Given the description of an element on the screen output the (x, y) to click on. 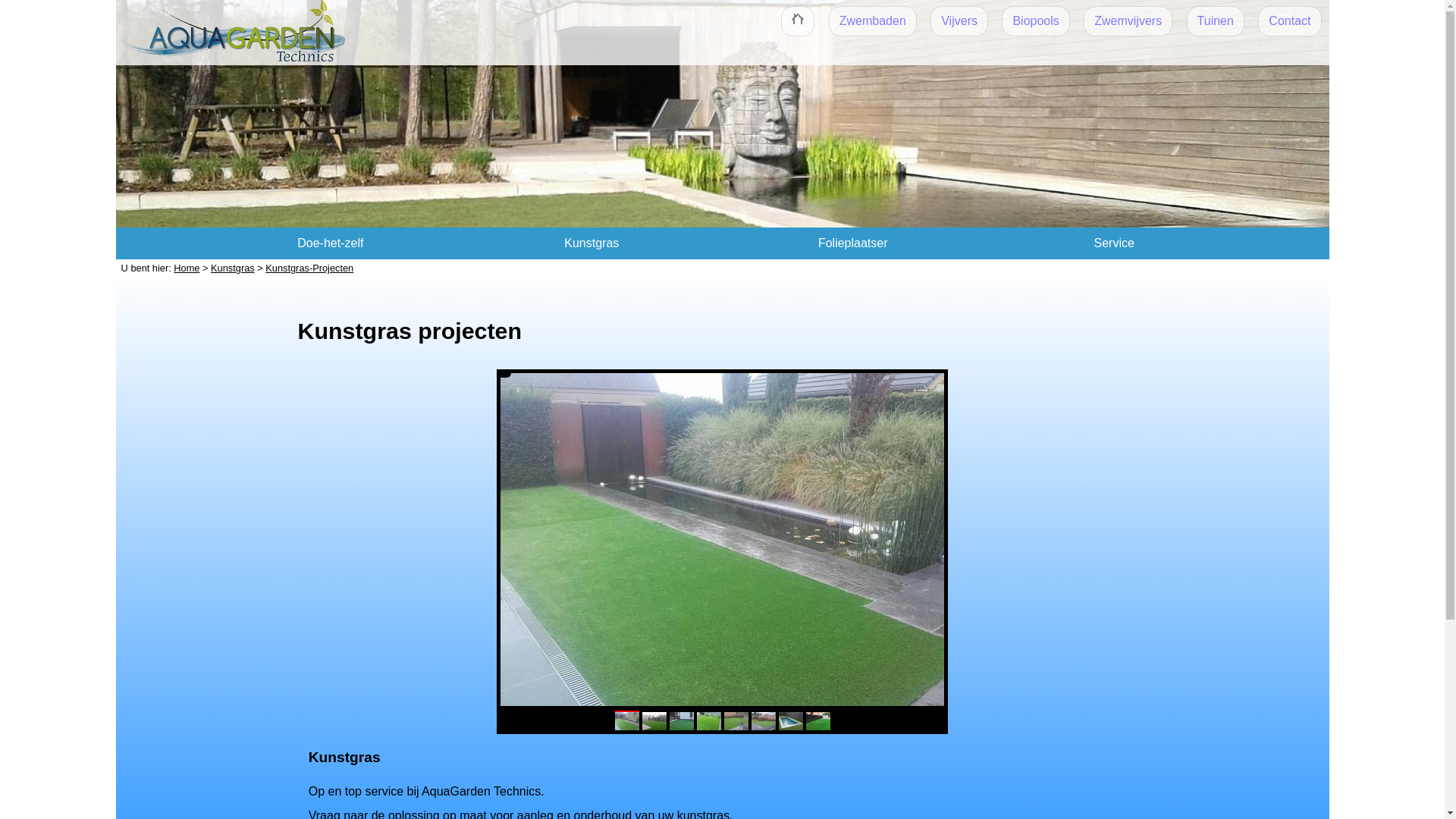
Kunstgras Element type: text (591, 243)
Contact Element type: text (1289, 20)
Home Element type: text (186, 267)
Kunstgras-Projecten Element type: text (309, 267)
Service Element type: text (1113, 243)
Doe-het-zelf Element type: text (330, 243)
Folieplaatser Element type: text (853, 243)
Zwembaden Element type: text (872, 20)
Biopools Element type: text (1035, 20)
Tuinen Element type: text (1215, 20)
Zwemvijvers Element type: text (1127, 20)
Kunstgras Element type: text (232, 267)
Vijvers Element type: text (959, 20)
Naar homepagina Element type: hover (234, 34)
